Given the description of an element on the screen output the (x, y) to click on. 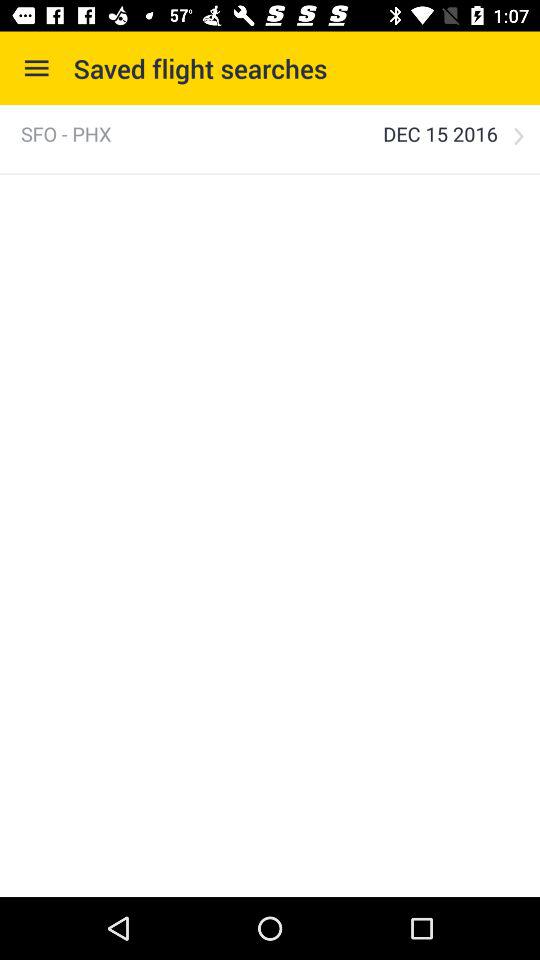
turn off item to the right of sfo - phx item (440, 133)
